Given the description of an element on the screen output the (x, y) to click on. 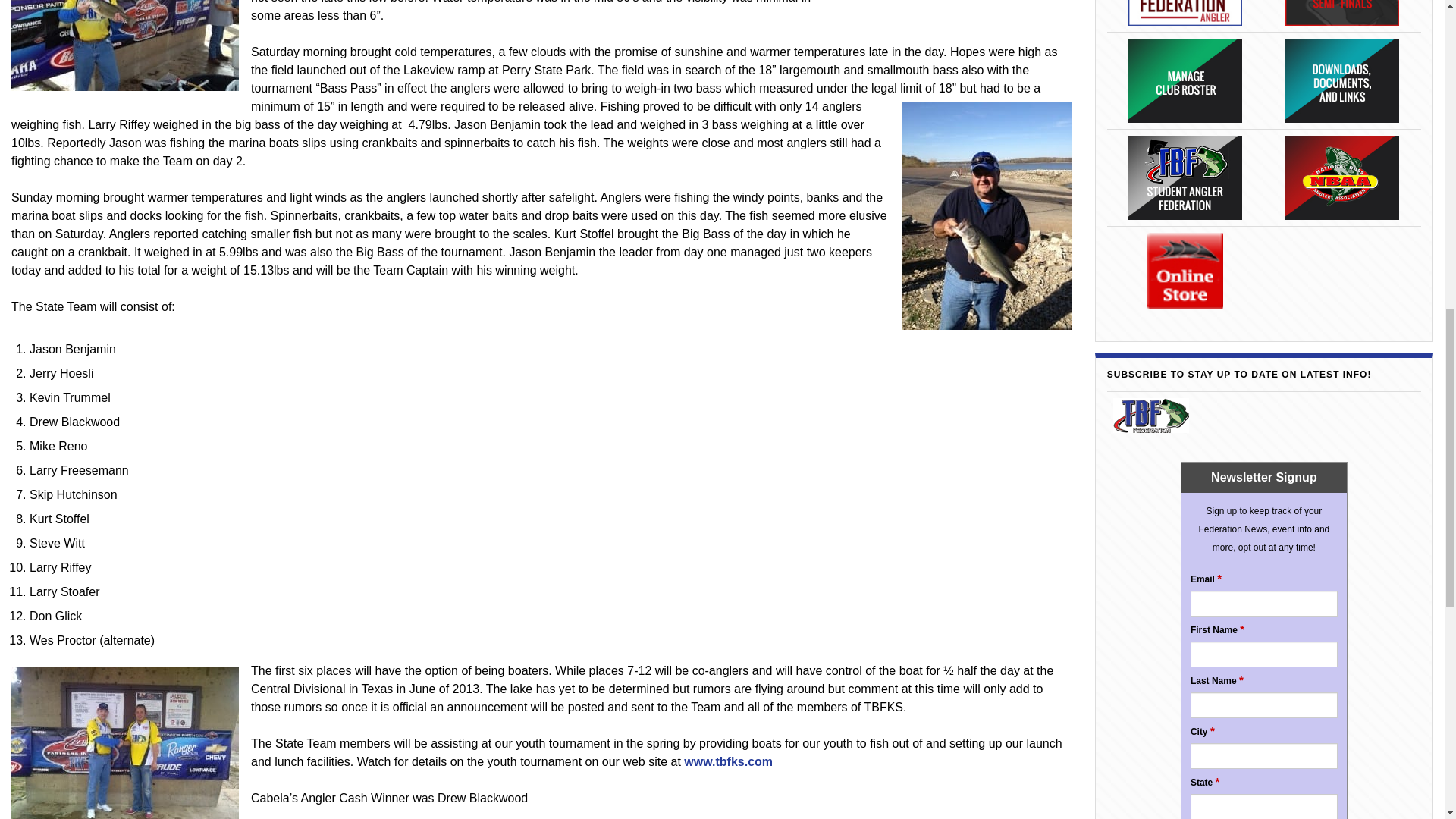
Larry F 4.11 Bass1 (124, 45)
Cabelas Angler Cash (124, 742)
